Given the description of an element on the screen output the (x, y) to click on. 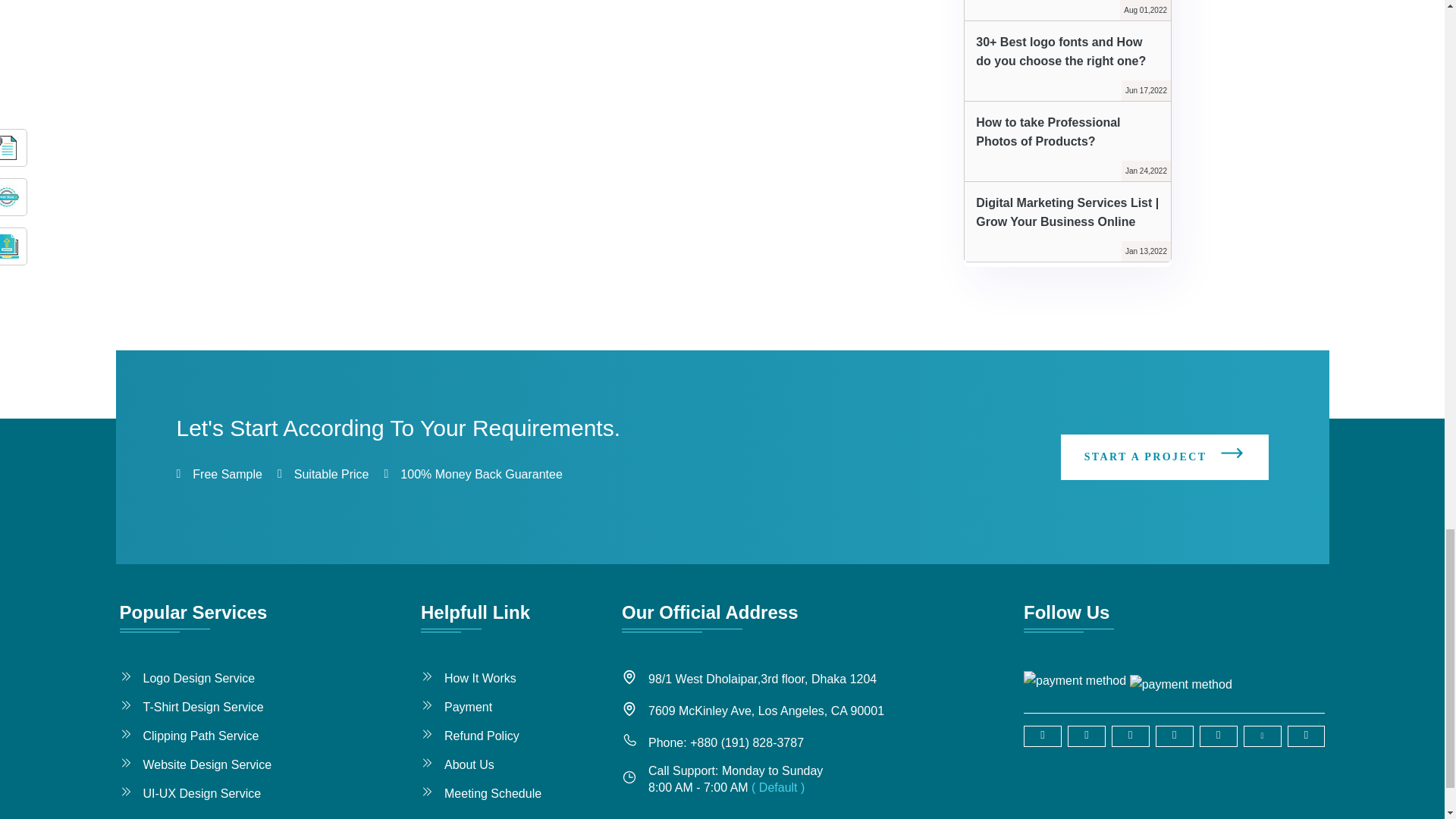
Payment method (1074, 680)
Payment method (1180, 680)
